Given the description of an element on the screen output the (x, y) to click on. 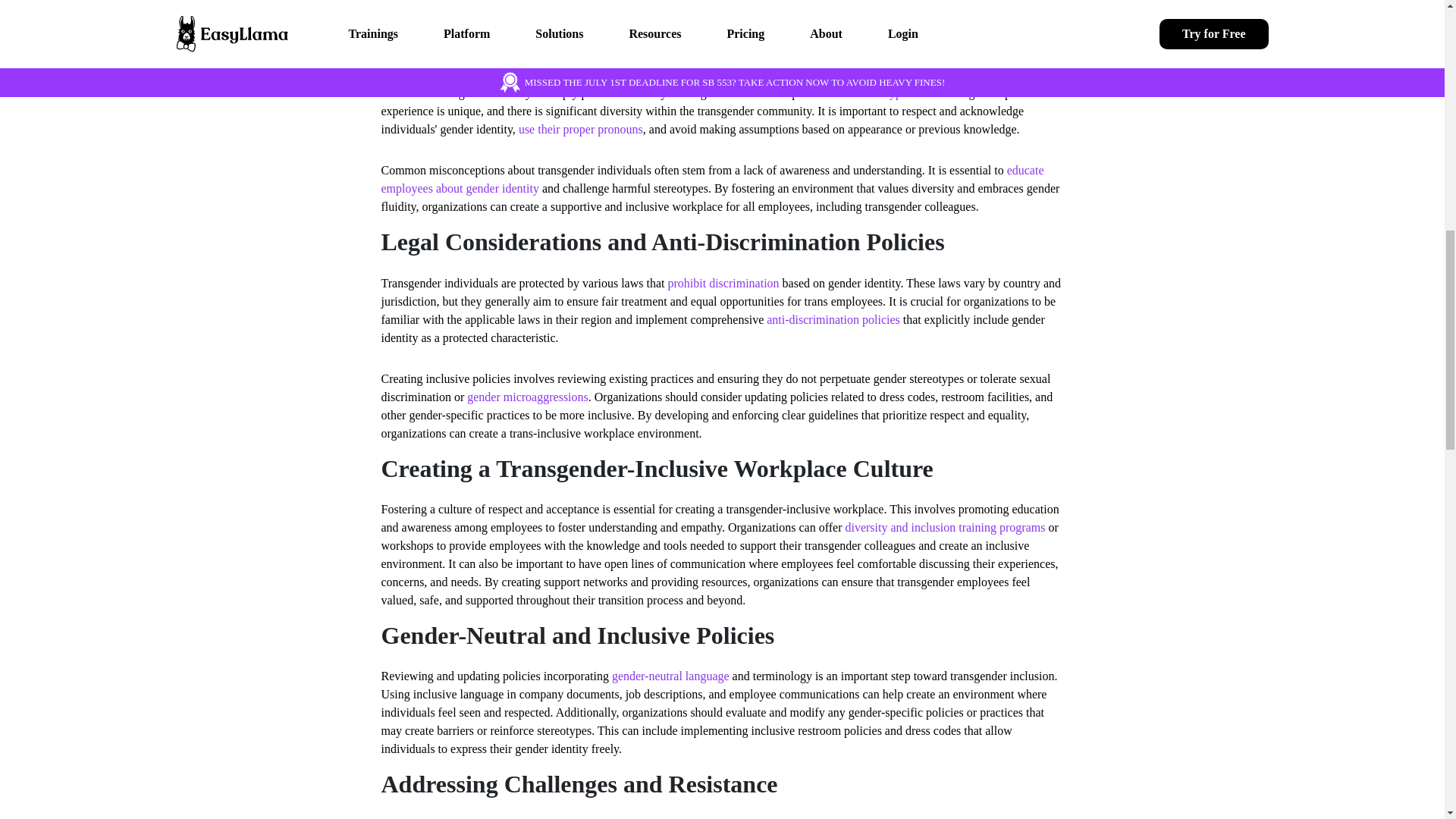
gender-neutral language (670, 675)
anti-discrimination policies (833, 318)
stereotypes (884, 92)
educate employees about gender identity (711, 178)
use their proper pronouns (580, 128)
diversity and inclusion training programs (944, 526)
prohibit discrimination (722, 282)
gender microaggressions (527, 396)
